Given the description of an element on the screen output the (x, y) to click on. 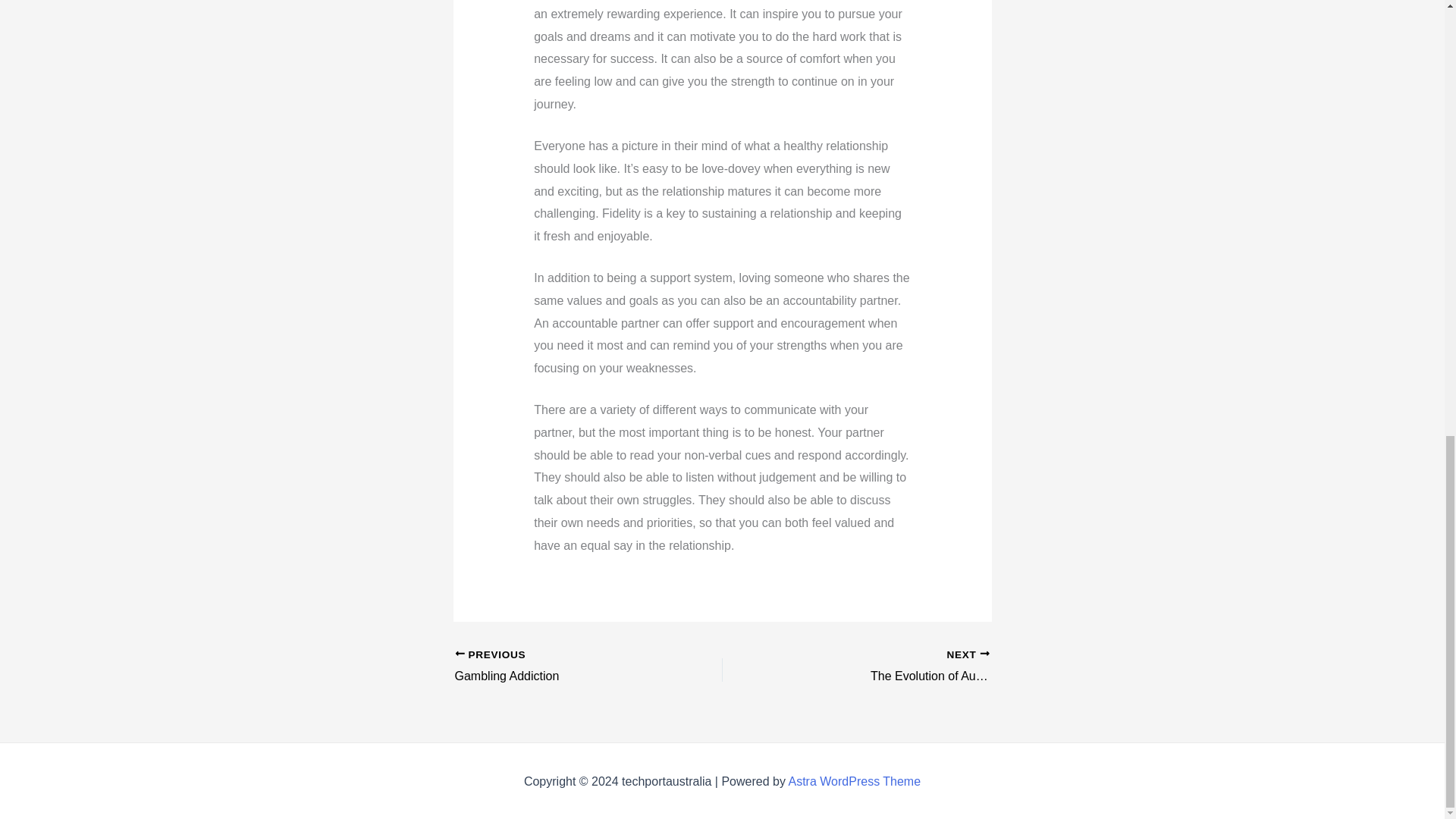
The Evolution of Automobiles (923, 667)
Gambling Addiction (561, 667)
Astra WordPress Theme (923, 667)
